Given the description of an element on the screen output the (x, y) to click on. 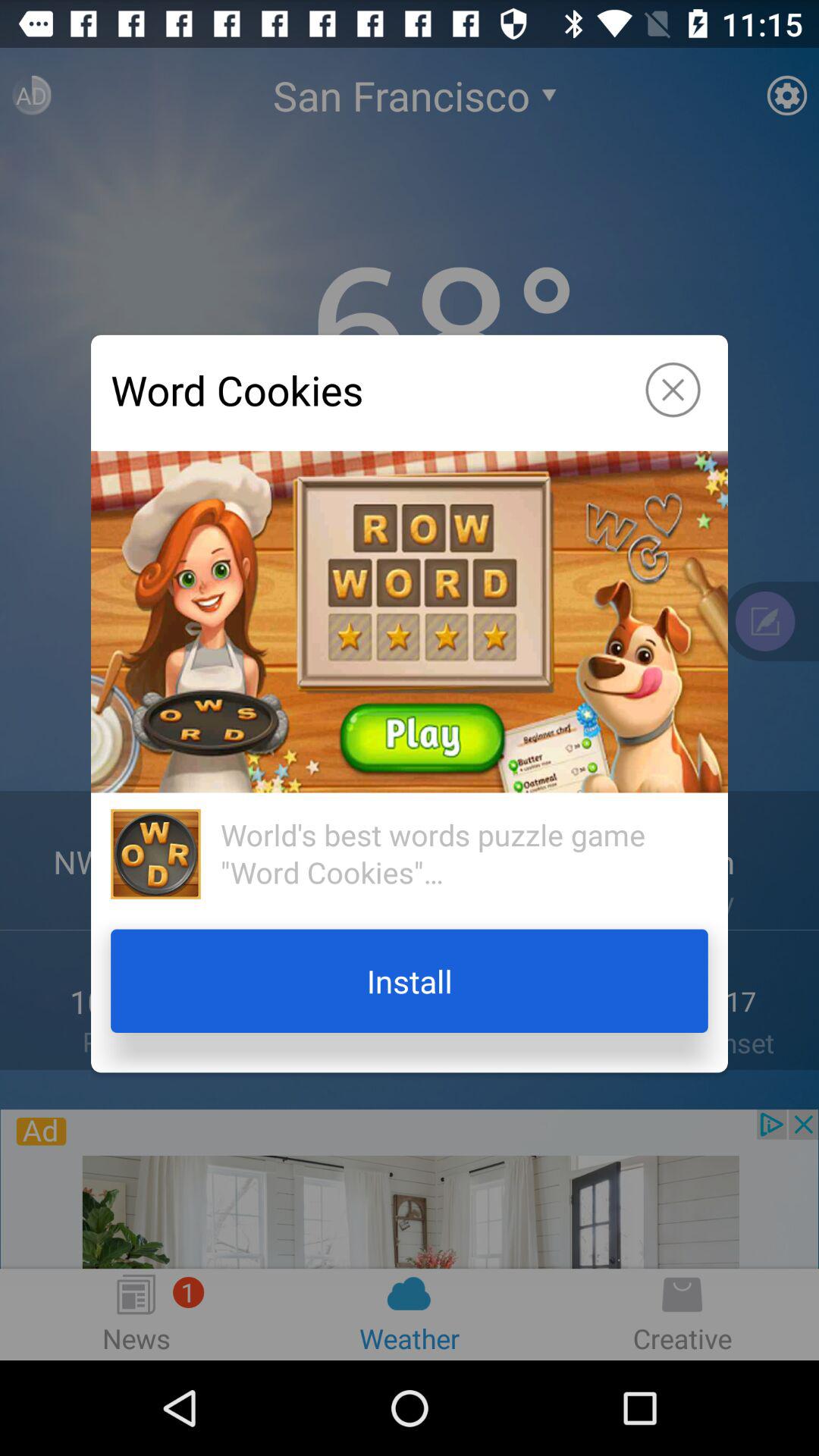
jump to the install item (409, 980)
